Given the description of an element on the screen output the (x, y) to click on. 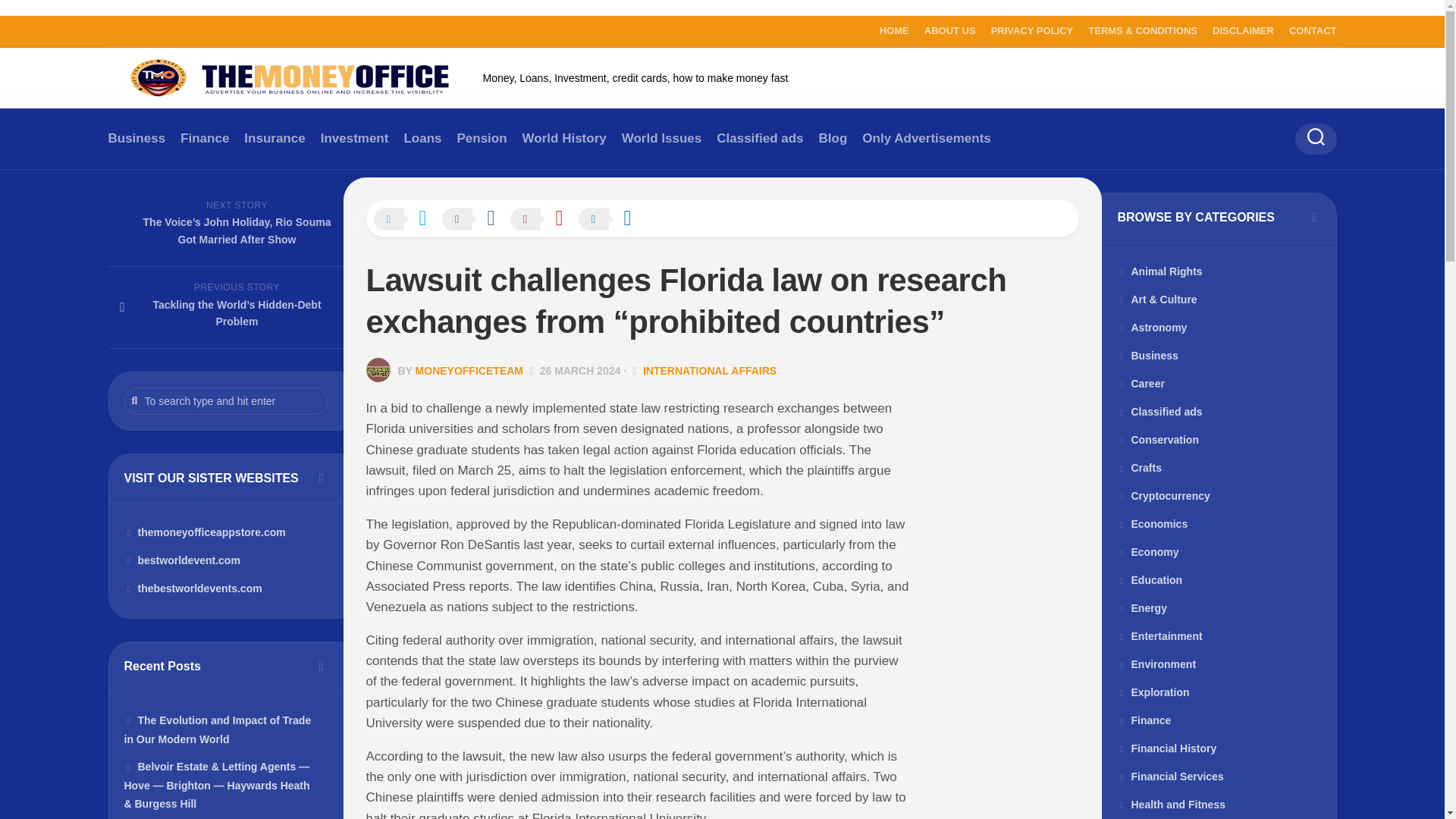
PRIVACY POLICY (1032, 30)
Finance (204, 138)
Share on LinkedIn (612, 219)
Pension (481, 138)
Loans (422, 138)
DISCLAIMER (1243, 30)
World History (564, 138)
CONTACT (1312, 30)
World Issues (661, 138)
To search type and hit enter (225, 400)
